Given the description of an element on the screen output the (x, y) to click on. 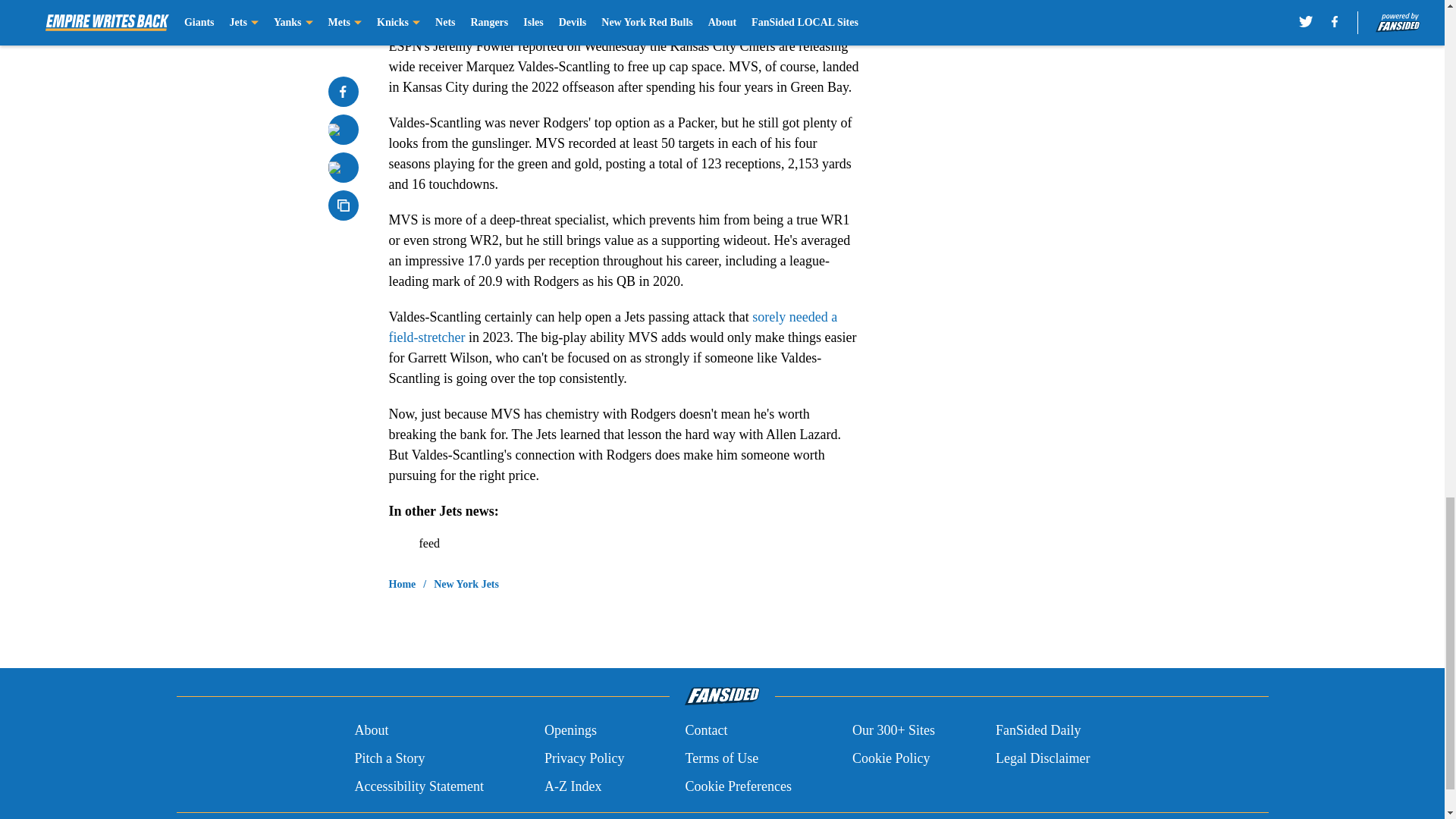
Home (401, 584)
Openings (570, 730)
About (370, 730)
Terms of Use (721, 758)
Privacy Policy (584, 758)
February 28, 2024 (676, 4)
sorely needed a field-stretcher (612, 326)
FanSided Daily (1038, 730)
New York Jets (466, 584)
Contact (705, 730)
